Given the description of an element on the screen output the (x, y) to click on. 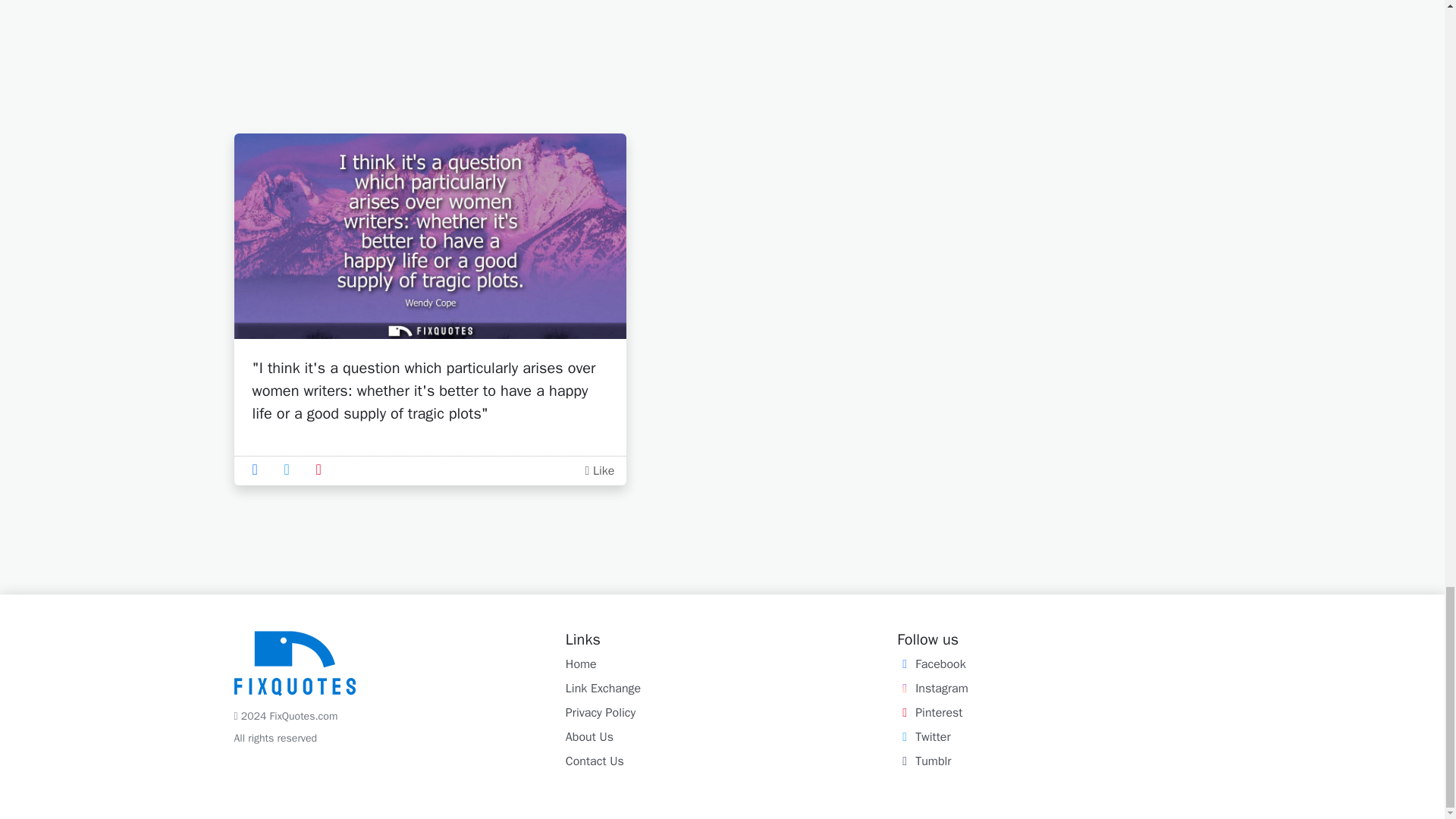
Vote on the best quotes (599, 470)
About Us (589, 736)
Facebook (930, 663)
Link Exchange (603, 688)
Share on Twitter (290, 468)
Contact Us (595, 761)
Pinterest (929, 712)
Share on Pinterest (322, 468)
Share on Facebook (258, 468)
Privacy Policy (600, 712)
